Given the description of an element on the screen output the (x, y) to click on. 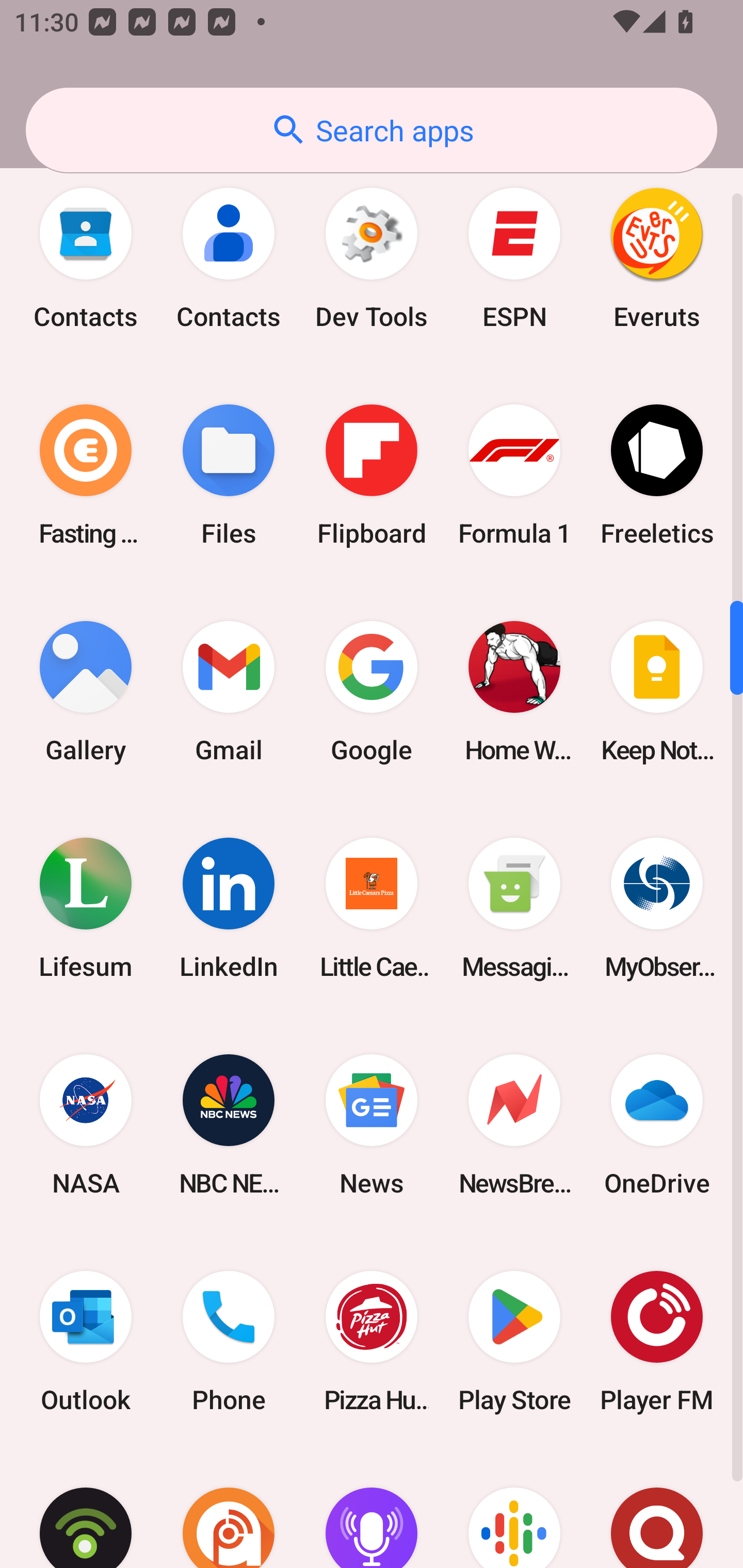
  Search apps (371, 130)
Contacts (85, 258)
Contacts (228, 258)
Dev Tools (371, 258)
ESPN (514, 258)
Everuts (656, 258)
Fasting Coach (85, 474)
Files (228, 474)
Flipboard (371, 474)
Formula 1 (514, 474)
Freeletics (656, 474)
Gallery (85, 691)
Gmail (228, 691)
Google (371, 691)
Home Workout (514, 691)
Keep Notes (656, 691)
Lifesum (85, 907)
LinkedIn (228, 907)
Little Caesars Pizza (371, 907)
Messaging (514, 907)
MyObservatory (656, 907)
NASA (85, 1125)
NBC NEWS (228, 1125)
News (371, 1125)
NewsBreak (514, 1125)
OneDrive (656, 1125)
Outlook (85, 1342)
Phone (228, 1342)
Pizza Hut HK & Macau (371, 1342)
Play Store (514, 1342)
Player FM (656, 1342)
Podbean (85, 1509)
Podcast Addict (228, 1509)
Podcast Player (371, 1509)
Podcasts (514, 1509)
Quora (656, 1509)
